Given the description of an element on the screen output the (x, y) to click on. 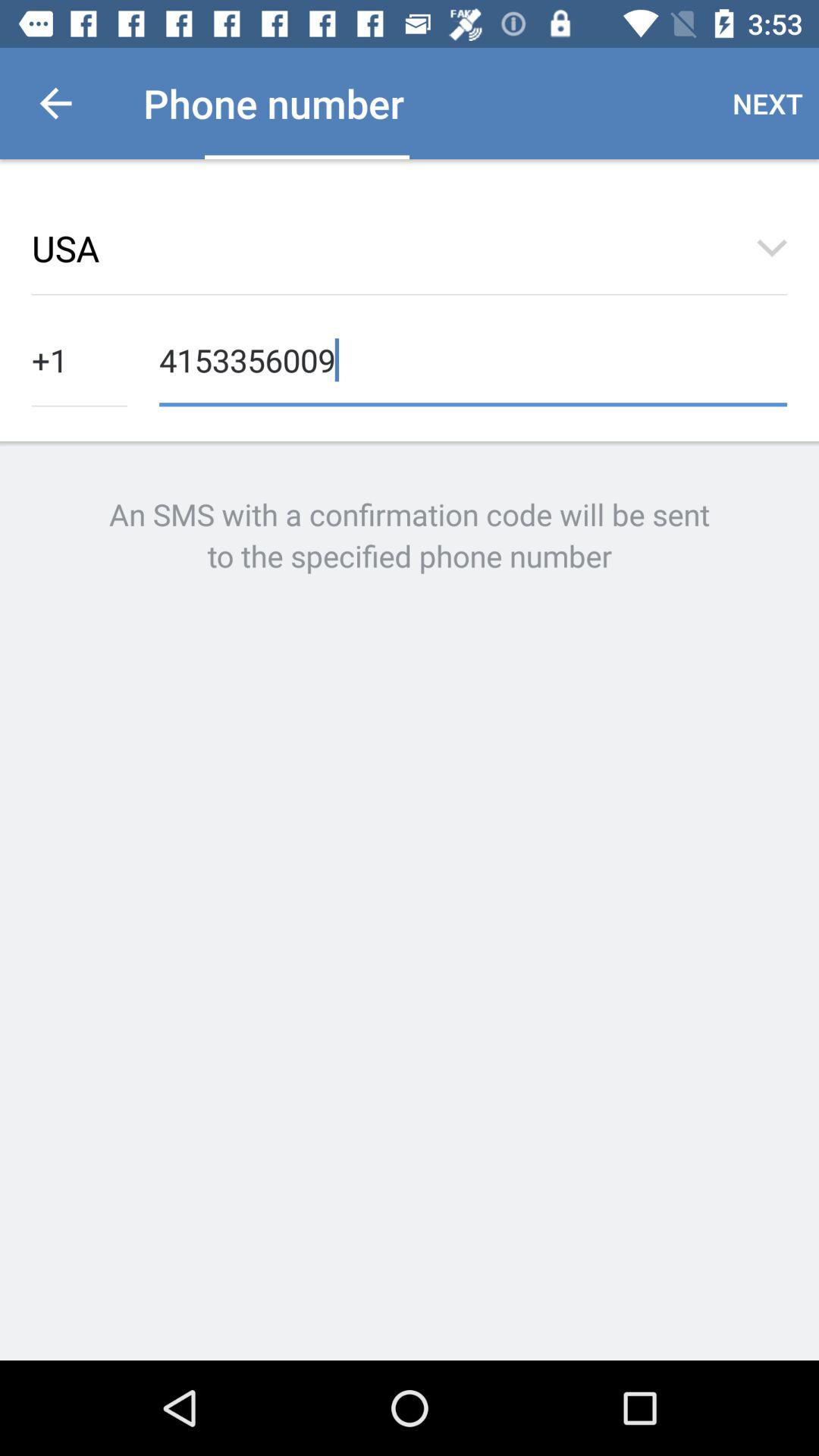
turn off the icon to the right of the phone number icon (767, 103)
